Given the description of an element on the screen output the (x, y) to click on. 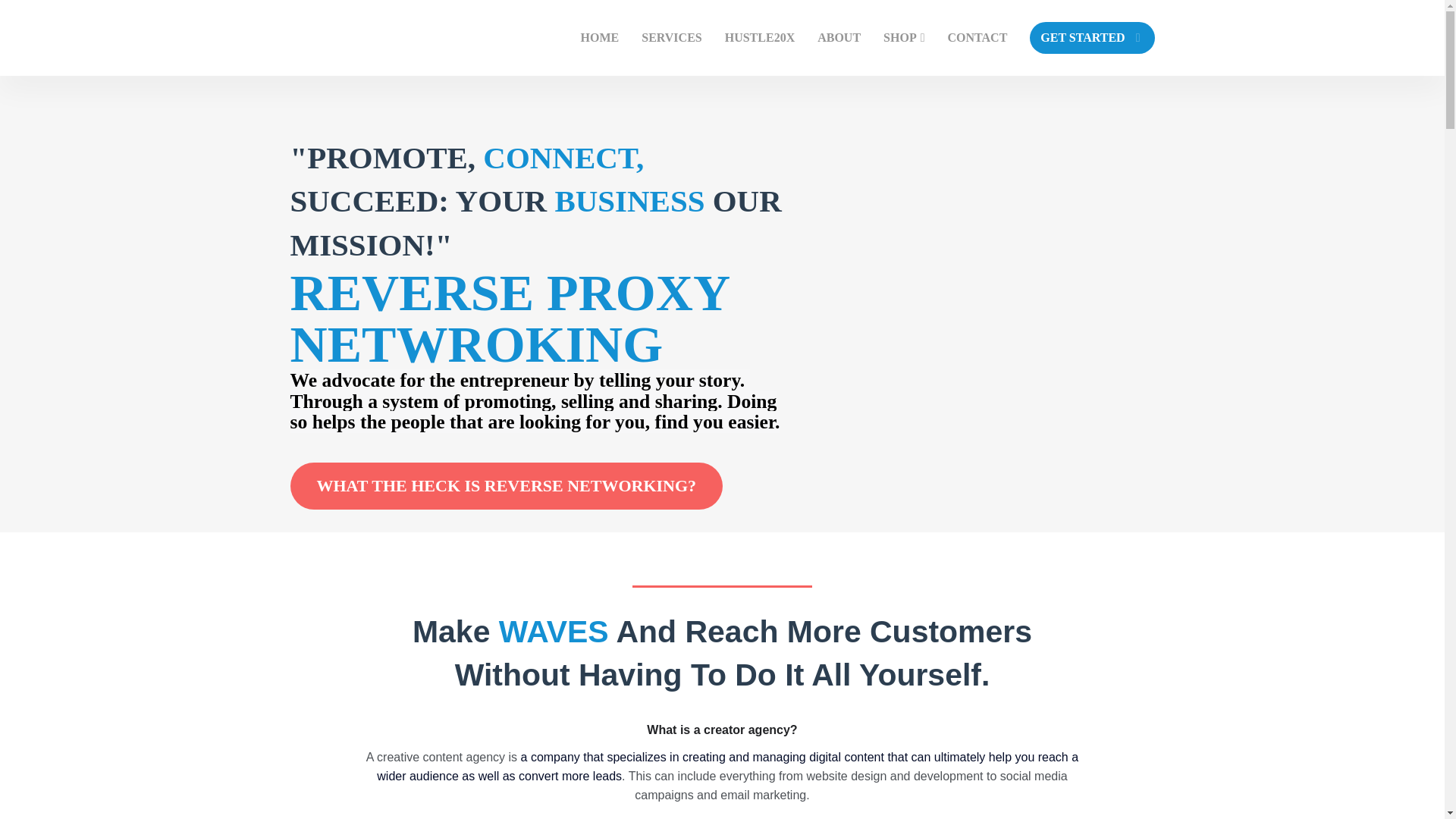
WHAT THE HECK IS REVERSE NETWORKING? (505, 485)
HUSTLE20X (759, 37)
CONTACT (976, 37)
SHOP (904, 37)
HOME (599, 37)
SERVICES (671, 37)
ABOUT (839, 37)
GET STARTED (1091, 38)
